Given the description of an element on the screen output the (x, y) to click on. 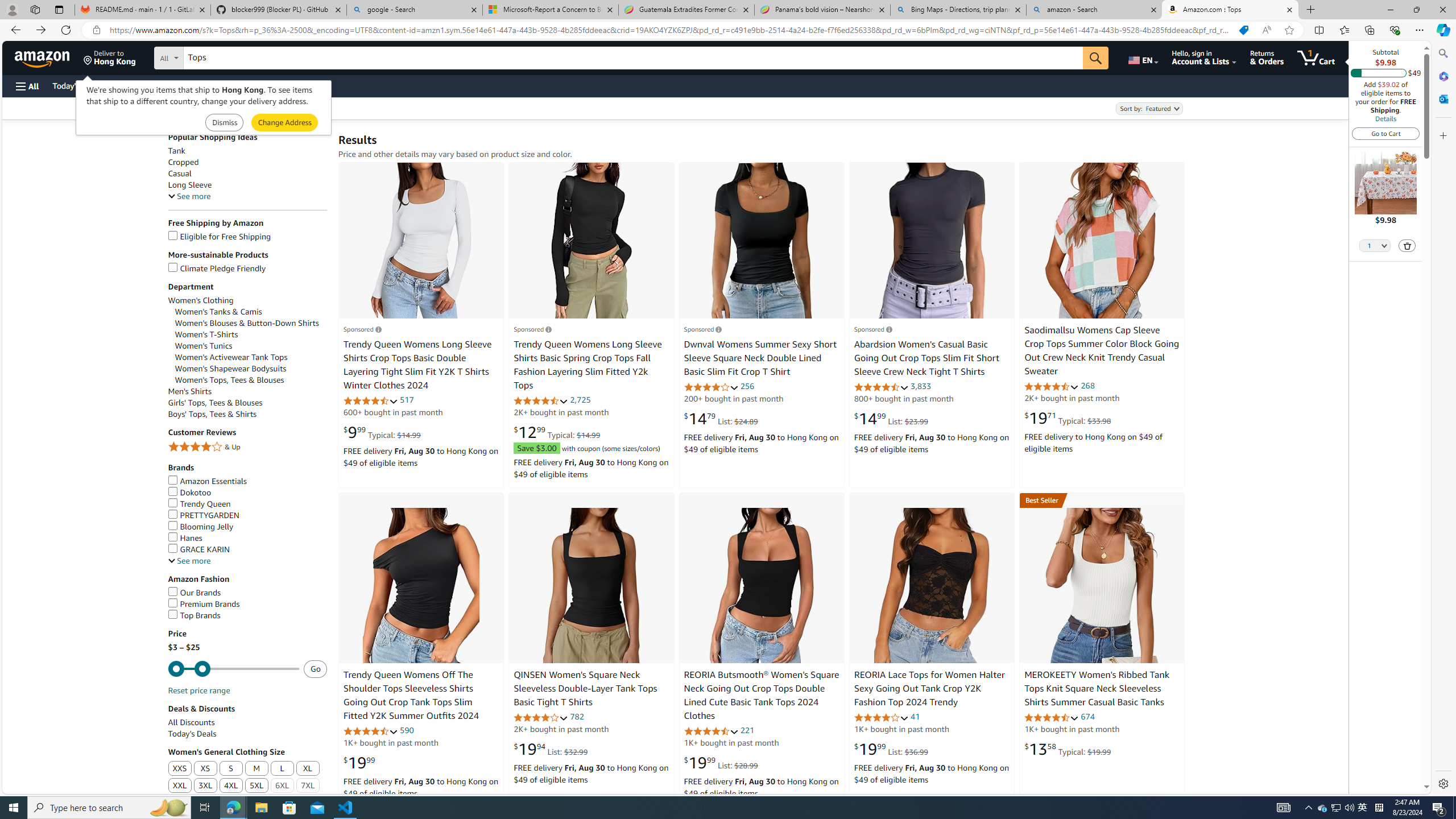
Dokotoo (189, 491)
Casual (179, 173)
3,833 (920, 385)
$19.94 List: $32.99 (550, 748)
Search in (210, 56)
Hanes (247, 537)
Women's Shapewear Bodysuits (250, 368)
Blooming Jelly (200, 526)
Long Sleeve (189, 184)
Go - Submit price range (315, 668)
